Given the description of an element on the screen output the (x, y) to click on. 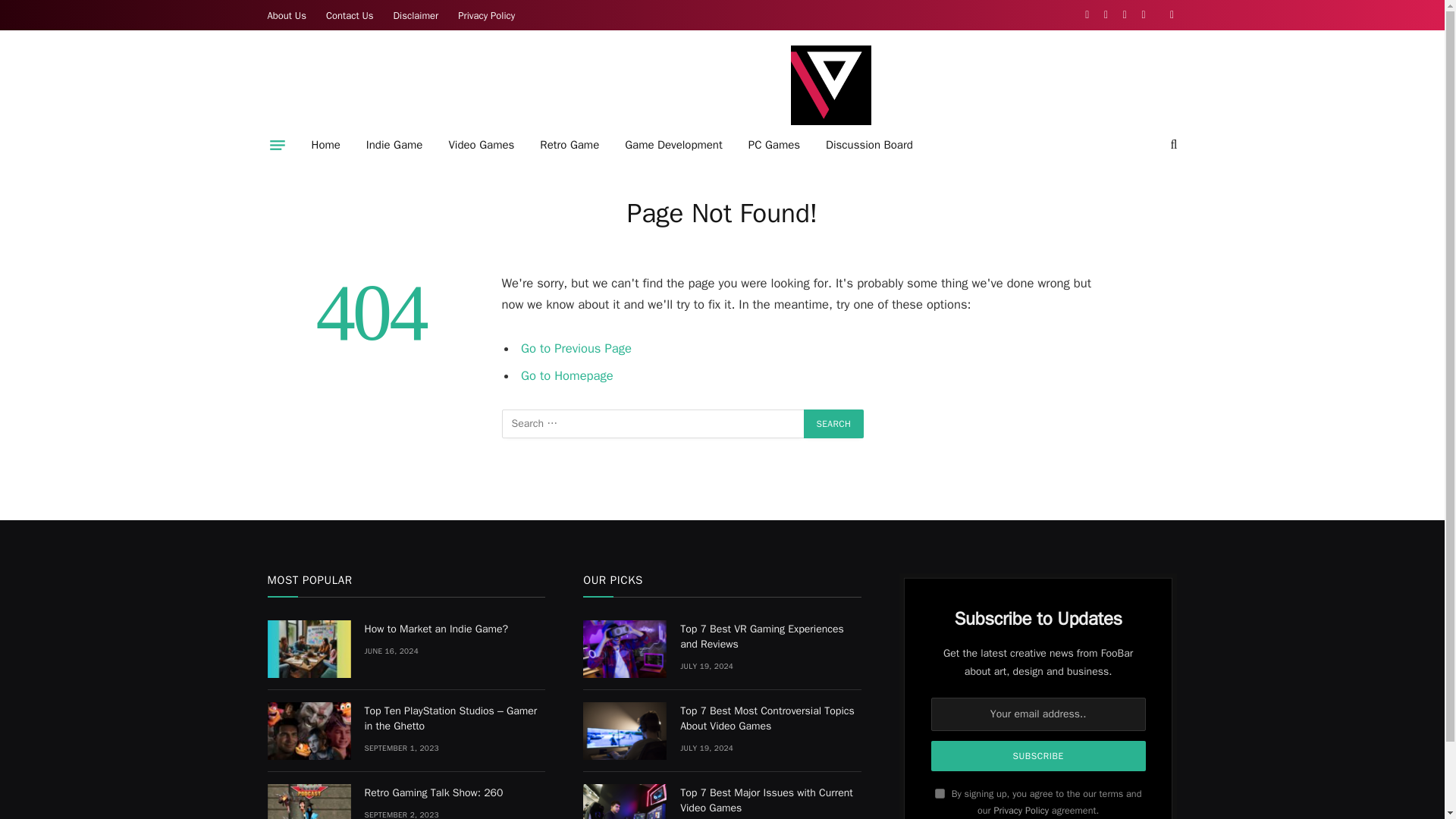
Go to Previous Page (576, 348)
Go to Homepage (566, 374)
Indie Devchronicles (830, 84)
Top 7 Best VR Gaming Experiences and Reviews (624, 648)
Top 7 Best Major Issues with Current Video Games (624, 801)
Privacy Policy (486, 15)
Switch to Dark Design - easier on eyes. (1169, 14)
Video Games (481, 144)
Game Development (673, 144)
PC Games (773, 144)
Subscribe (1038, 756)
How to Market an Indie Game? (454, 629)
Search (833, 423)
Discussion Board (869, 144)
